Given the description of an element on the screen output the (x, y) to click on. 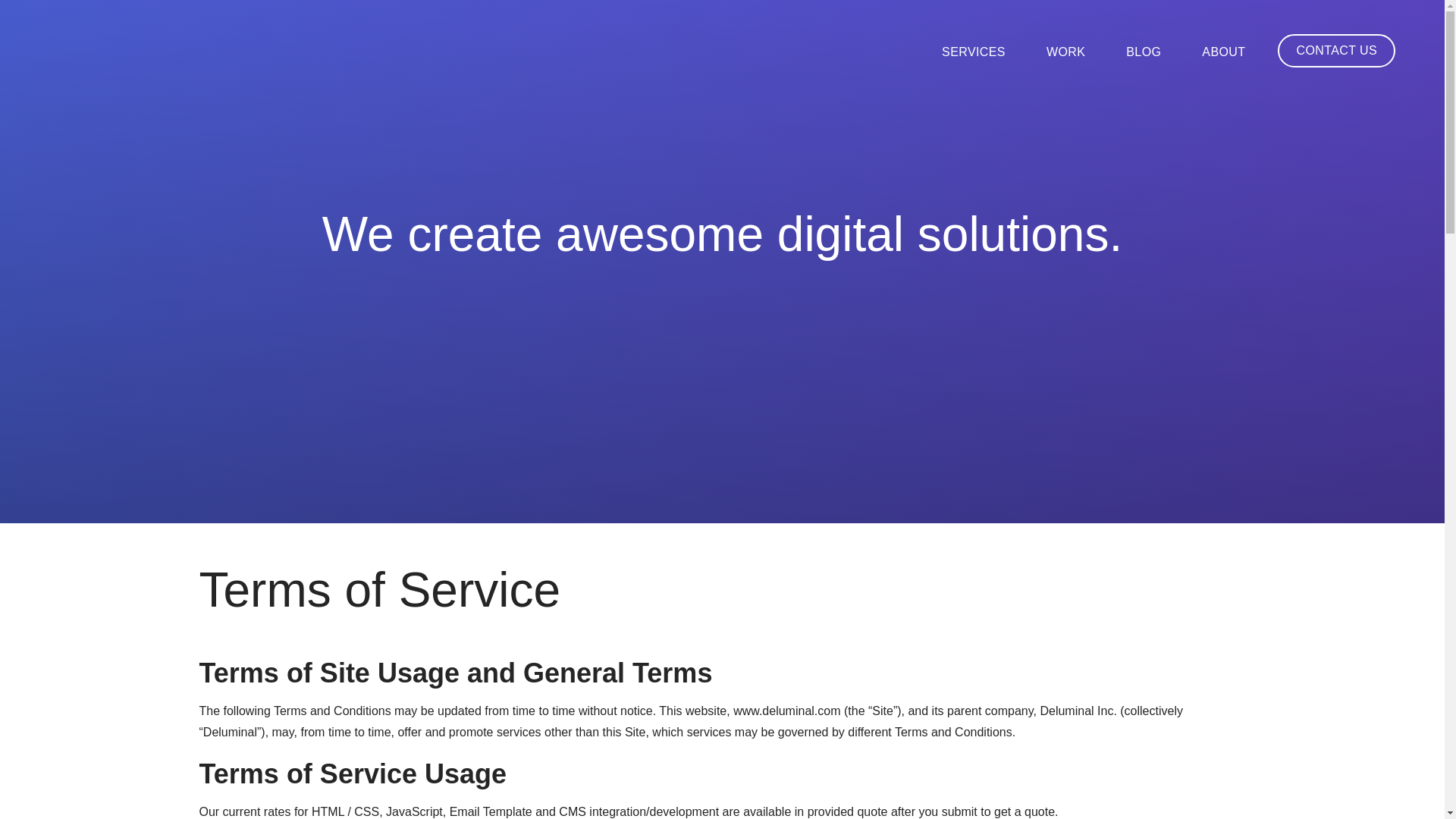
BLOG (1142, 52)
CONTACT US (1336, 50)
WORK (1065, 52)
SERVICES (974, 52)
ABOUT (1223, 52)
